Given the description of an element on the screen output the (x, y) to click on. 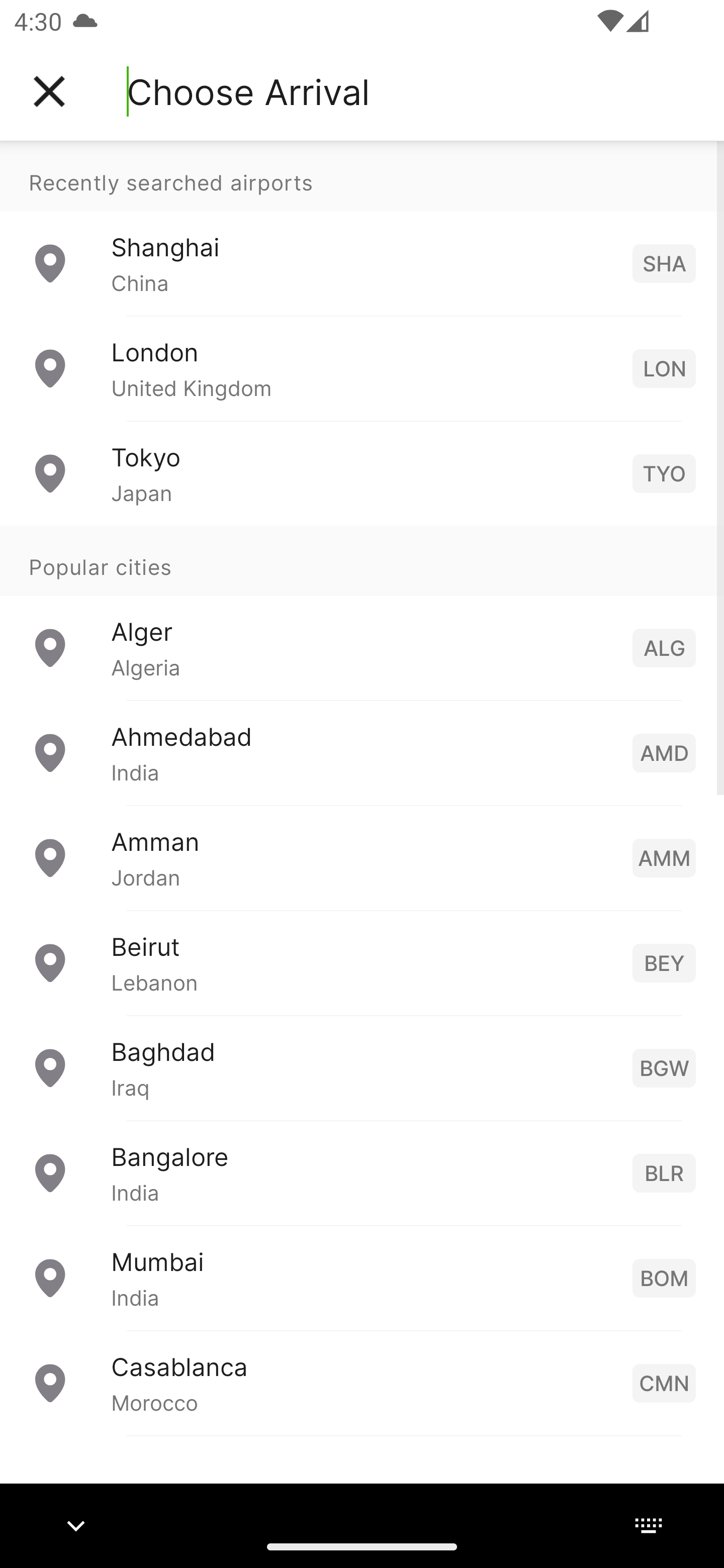
Choose Arrival (247, 91)
Recently searched airports Shanghai China SHA (362, 228)
Recently searched airports (362, 176)
London United Kingdom LON (362, 367)
Tokyo Japan TYO (362, 472)
Popular cities Alger Algeria ALG (362, 612)
Popular cities (362, 560)
Ahmedabad India AMD (362, 751)
Amman Jordan AMM (362, 856)
Beirut Lebanon BEY (362, 961)
Baghdad Iraq BGW (362, 1066)
Bangalore India BLR (362, 1171)
Mumbai India BOM (362, 1276)
Casablanca Morocco CMN (362, 1381)
